Given the description of an element on the screen output the (x, y) to click on. 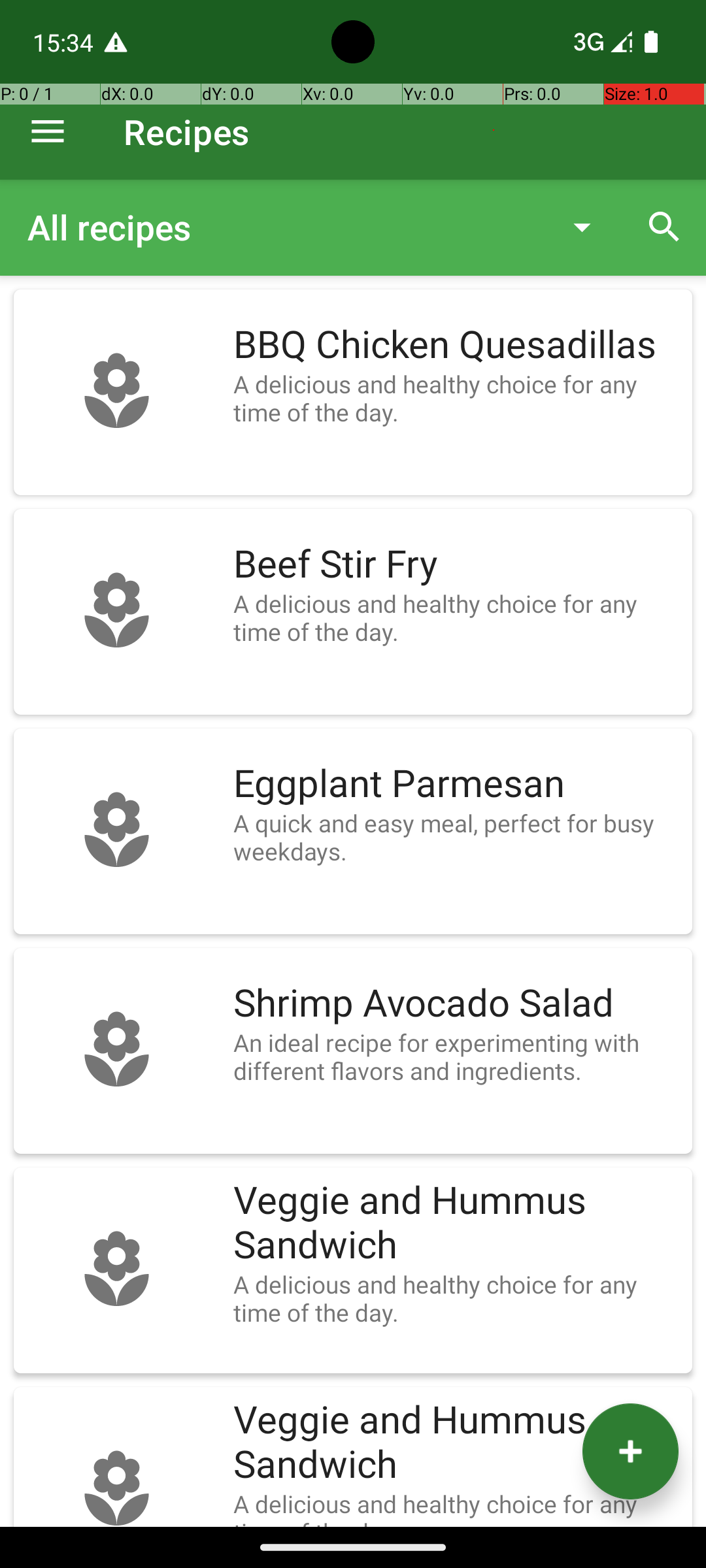
Shrimp Avocado Salad Element type: android.widget.TextView (455, 1003)
Veggie and Hummus Sandwich Element type: android.widget.TextView (455, 1222)
